Given the description of an element on the screen output the (x, y) to click on. 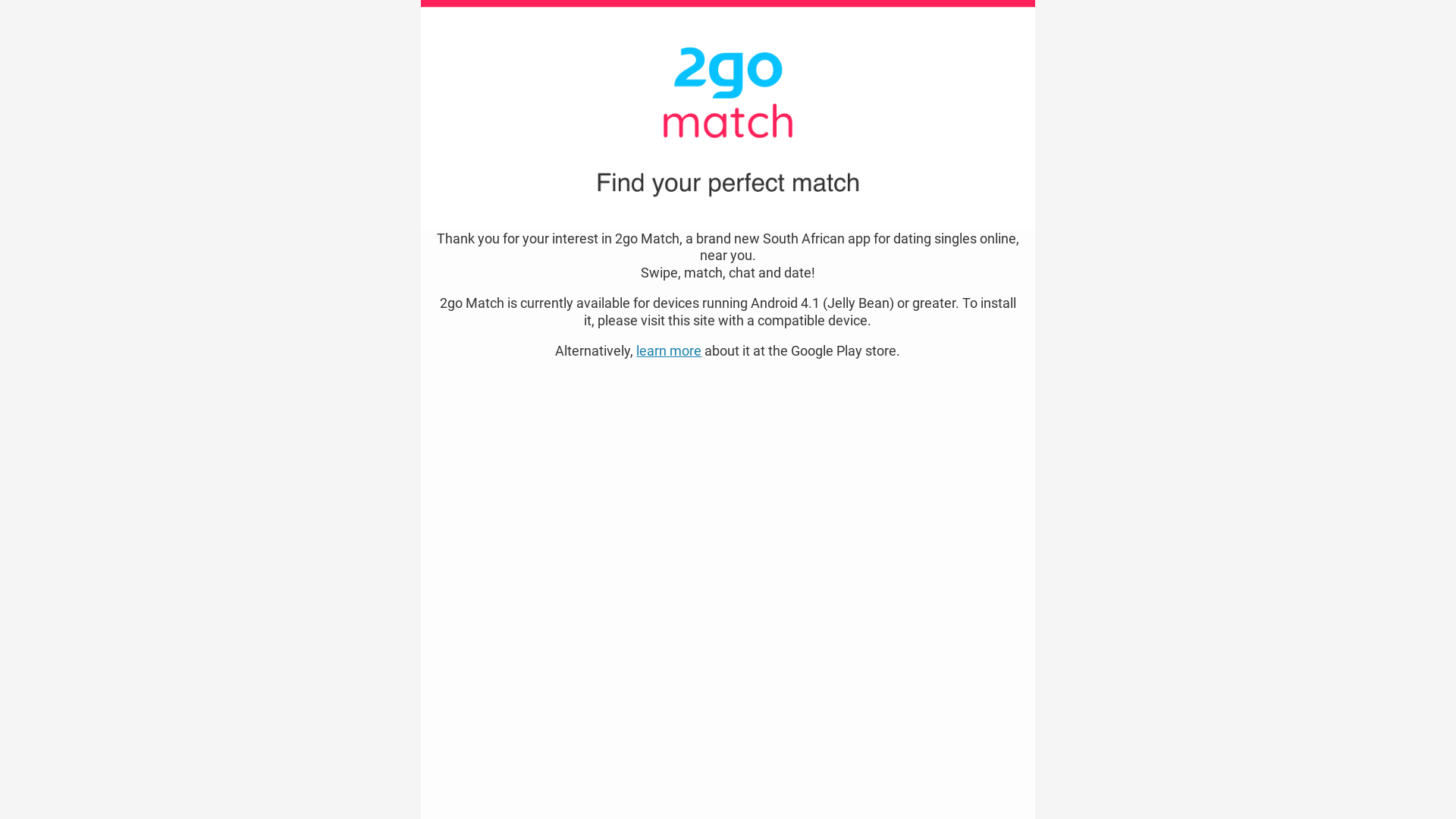
learn more Element type: text (668, 350)
